Given the description of an element on the screen output the (x, y) to click on. 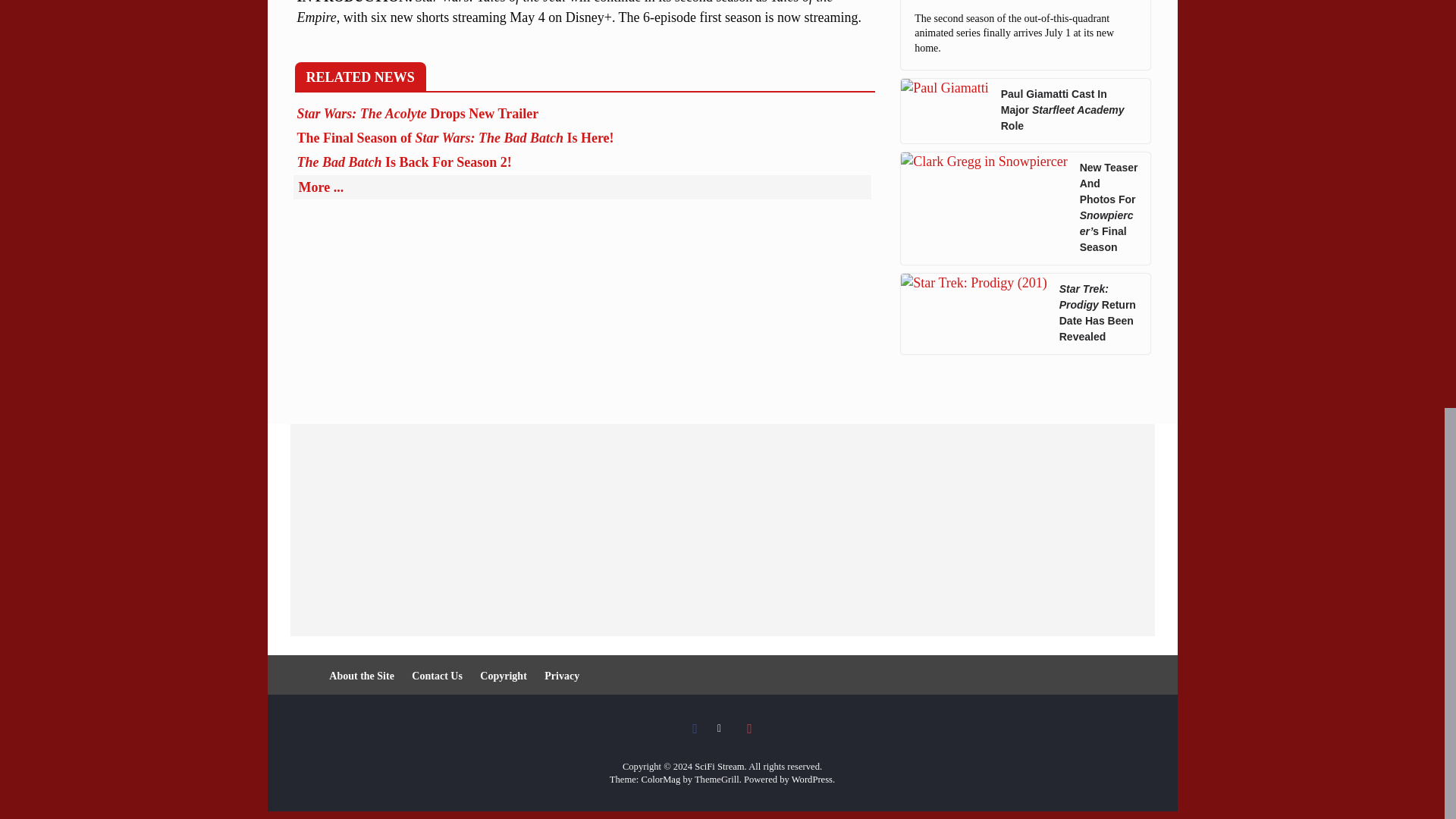
Paul Giamatti Cast In Major Starfleet Academy Role (1069, 110)
Paul Giamatti Cast In Major Starfleet Academy Role (944, 110)
